Given the description of an element on the screen output the (x, y) to click on. 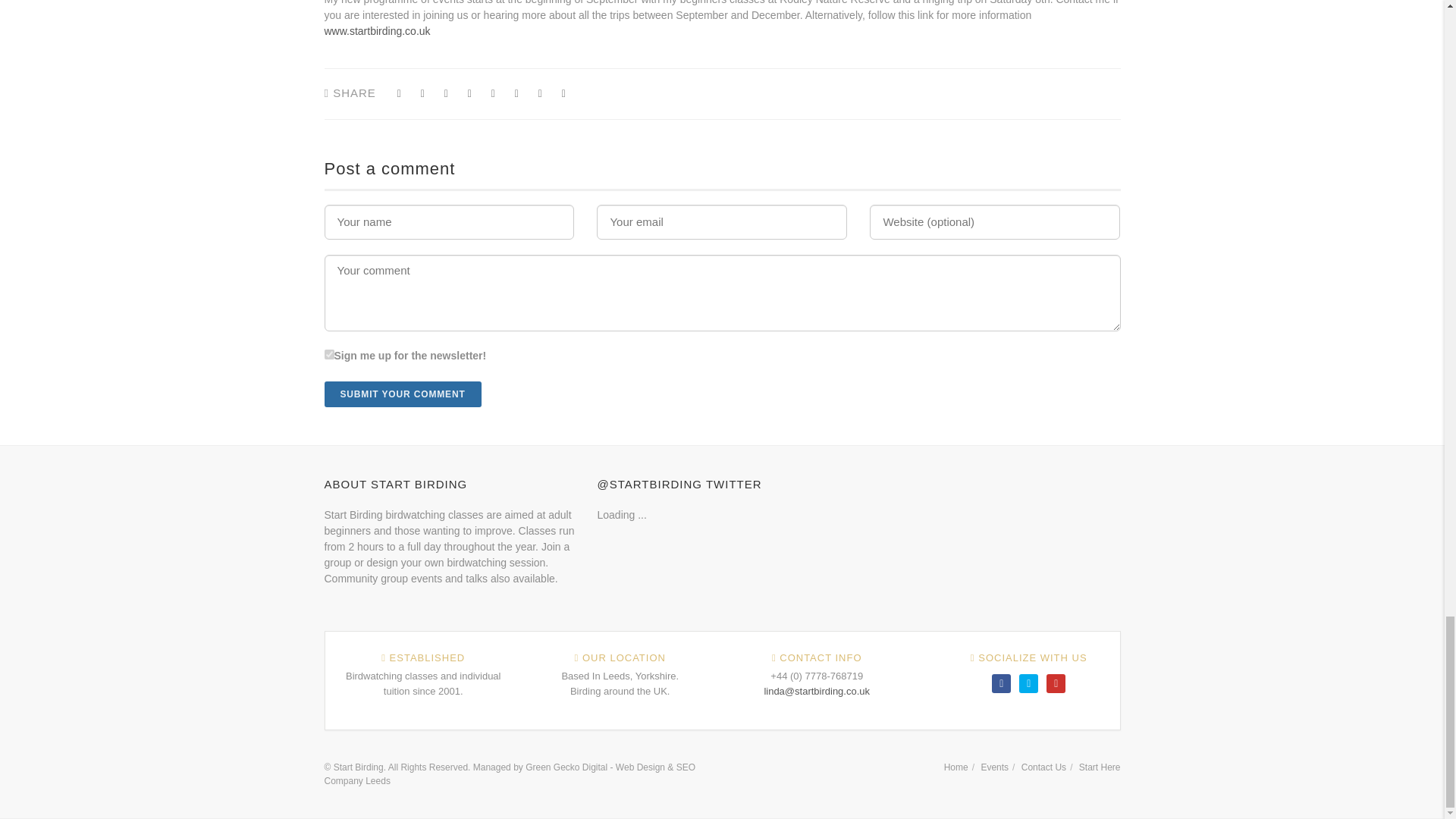
Post to Tumblr (469, 93)
Tweet (422, 93)
Submit to Reddit (515, 93)
Submit your comment (402, 394)
1 (329, 354)
Share on Facebook (445, 93)
Share on Facebook (399, 93)
Email (563, 93)
Pin it (492, 93)
Share on Linkedin (540, 93)
